Given the description of an element on the screen output the (x, y) to click on. 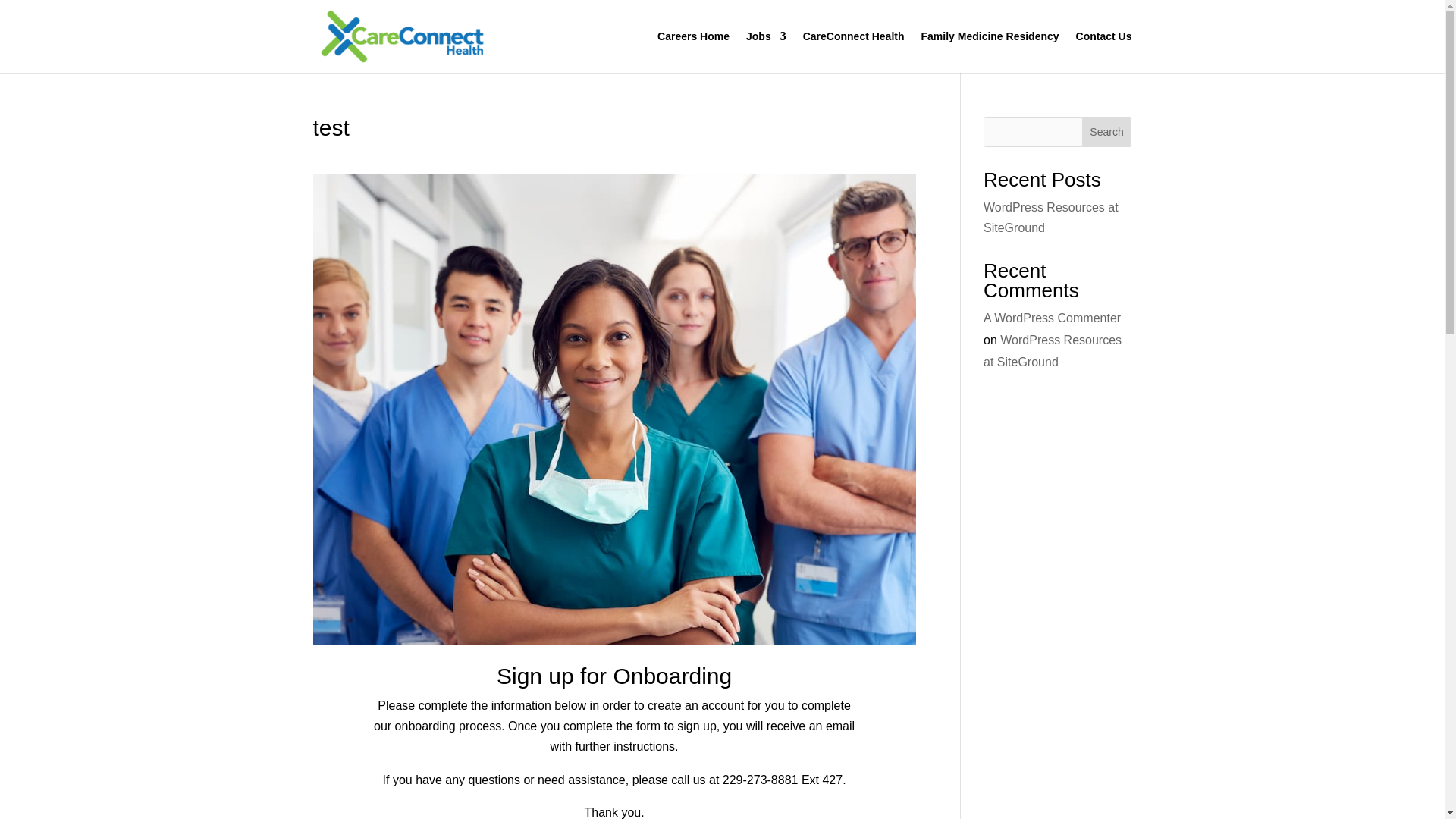
Jobs (765, 51)
A WordPress Commenter (1052, 318)
Family Medicine Residency (990, 51)
CareConnect Health (853, 51)
WordPress Resources at SiteGround (1051, 217)
Careers Home (693, 51)
WordPress Resources at SiteGround (1052, 350)
Contact Us (1103, 51)
Search (1106, 132)
